Given the description of an element on the screen output the (x, y) to click on. 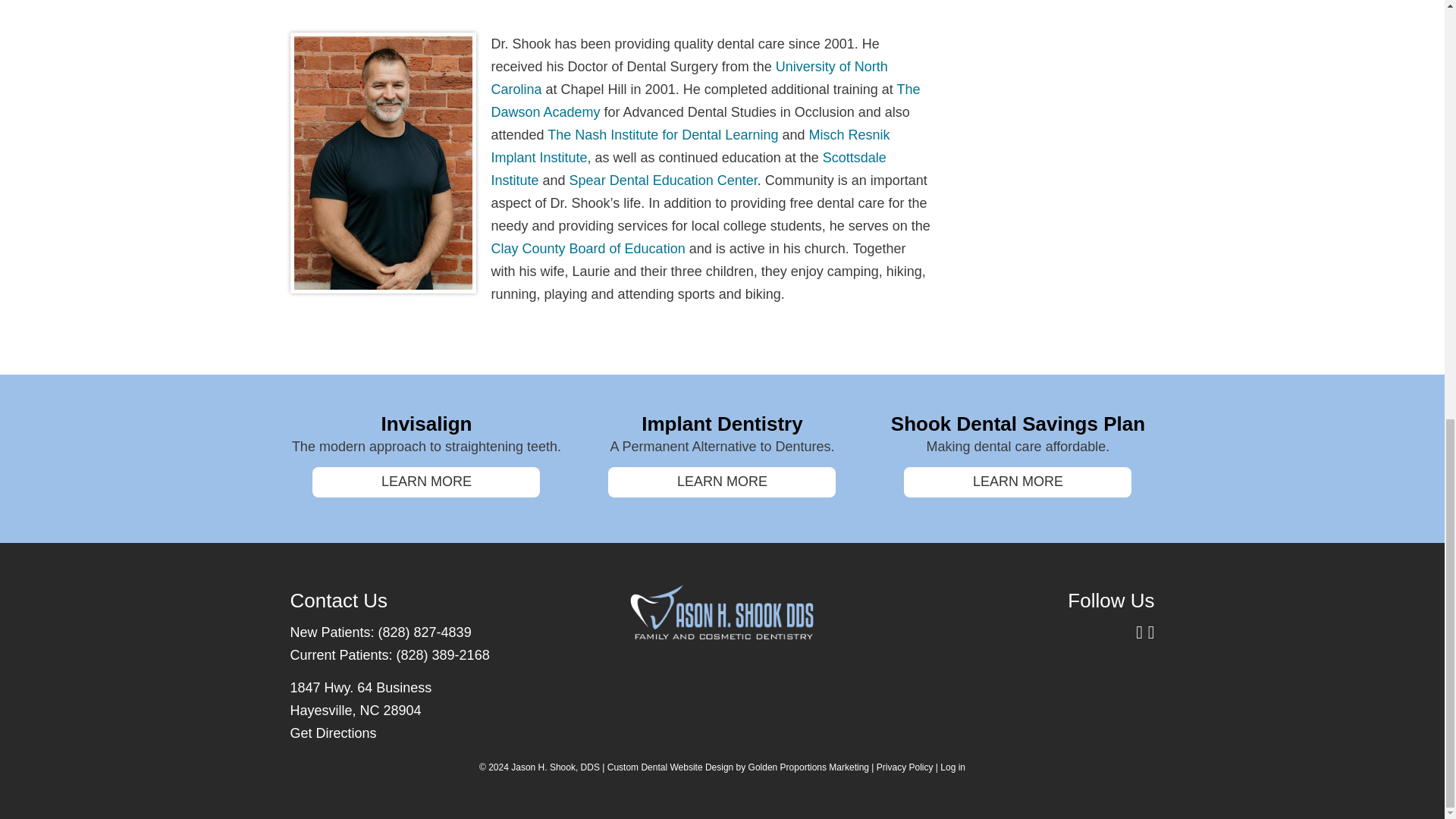
The Nash Institute for Dental Learning (662, 134)
Privacy Policy (904, 767)
Log in (952, 767)
The Dawson Academy (706, 100)
Shook Dental Savings Plan (1017, 423)
LEARN MORE (1017, 481)
LEARN MORE (426, 481)
Clay County Board of Education (588, 248)
Misch Resnik Implant Institute (690, 146)
LEARN MORE (721, 481)
